Given the description of an element on the screen output the (x, y) to click on. 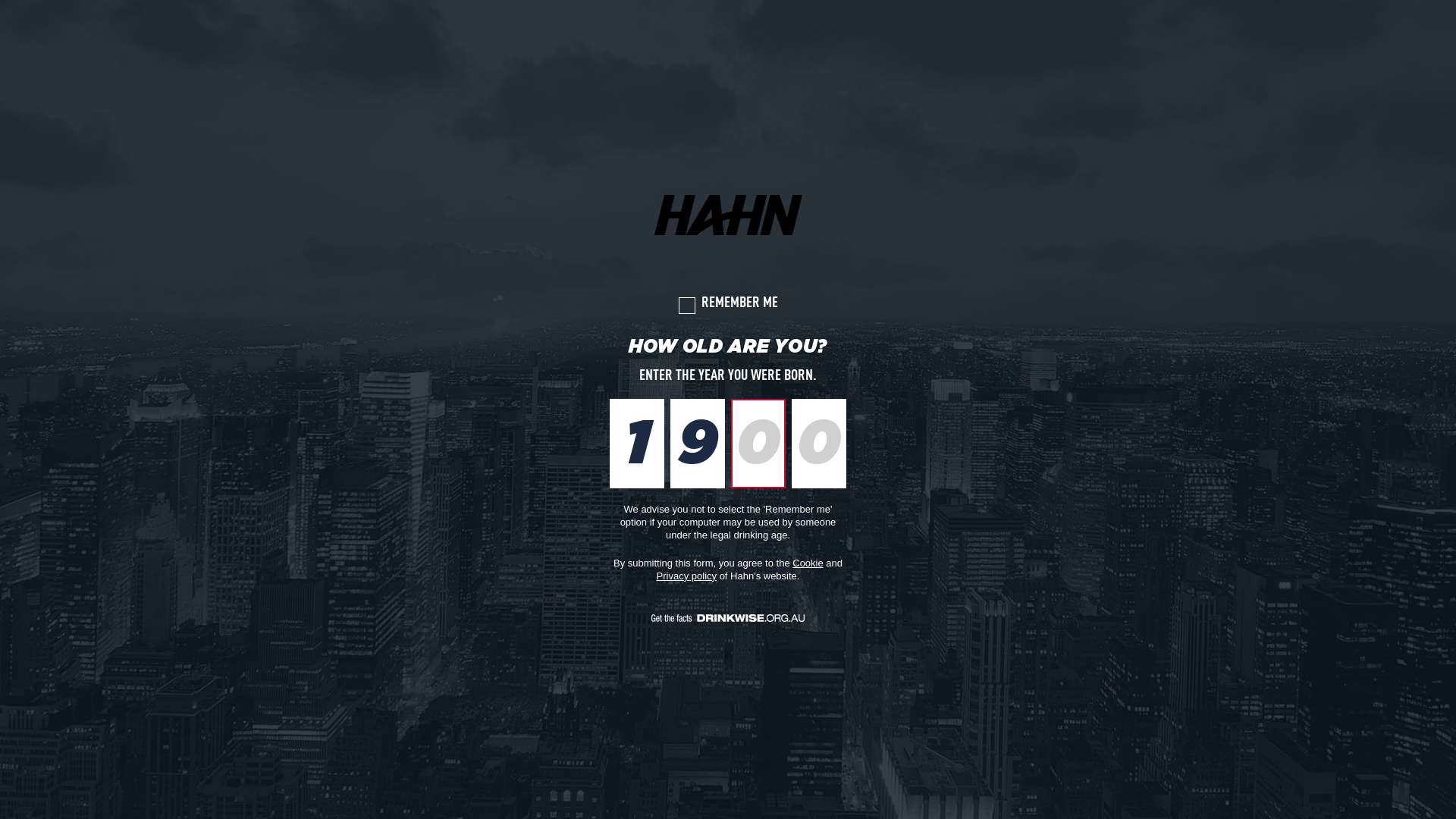
Privacy policy Element type: text (686, 575)
Cookie Element type: text (807, 562)
